Given the description of an element on the screen output the (x, y) to click on. 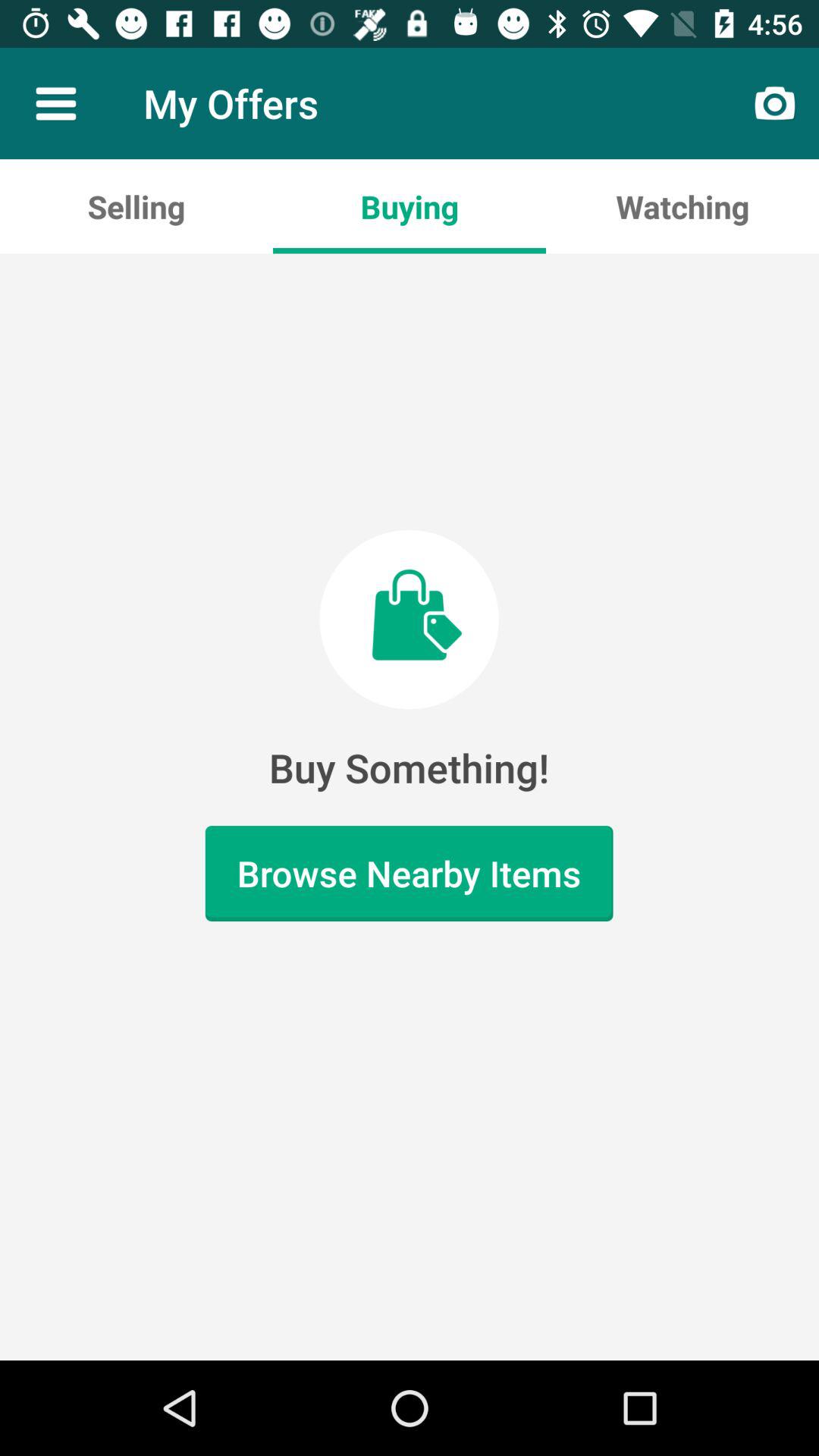
tap the item to the left of the watching app (409, 206)
